Given the description of an element on the screen output the (x, y) to click on. 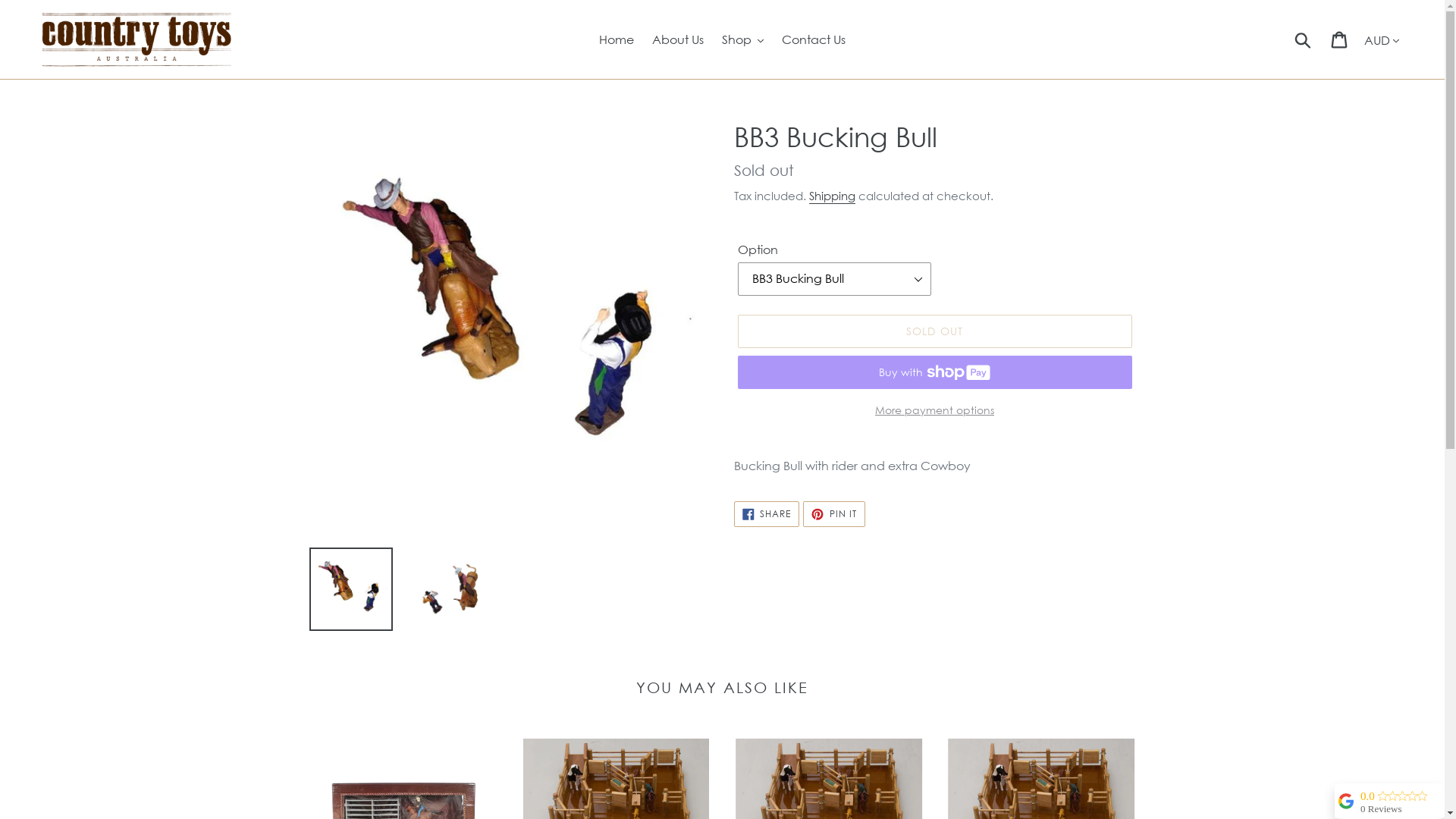
SHARE
SHARE ON FACEBOOK Element type: text (767, 513)
More payment options Element type: text (934, 408)
Home Element type: text (616, 39)
Submit Element type: text (1303, 39)
Shipping Element type: text (831, 195)
Contact Us Element type: text (813, 39)
SOLD OUT Element type: text (934, 330)
About Us Element type: text (677, 39)
PIN IT
PIN ON PINTEREST Element type: text (834, 513)
Cart Element type: text (1340, 38)
